Given the description of an element on the screen output the (x, y) to click on. 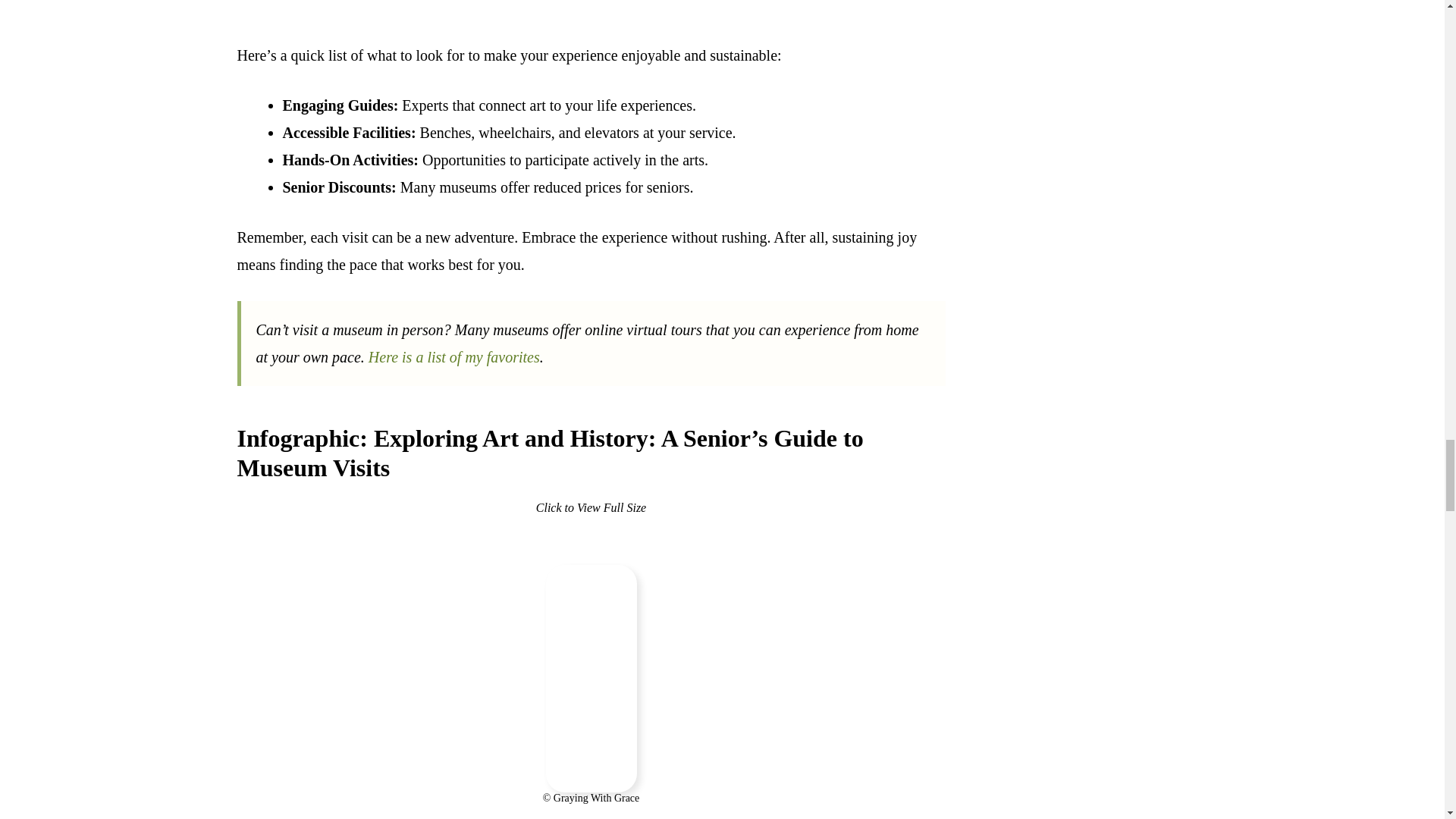
Here is a list of my favorites (454, 356)
